Given the description of an element on the screen output the (x, y) to click on. 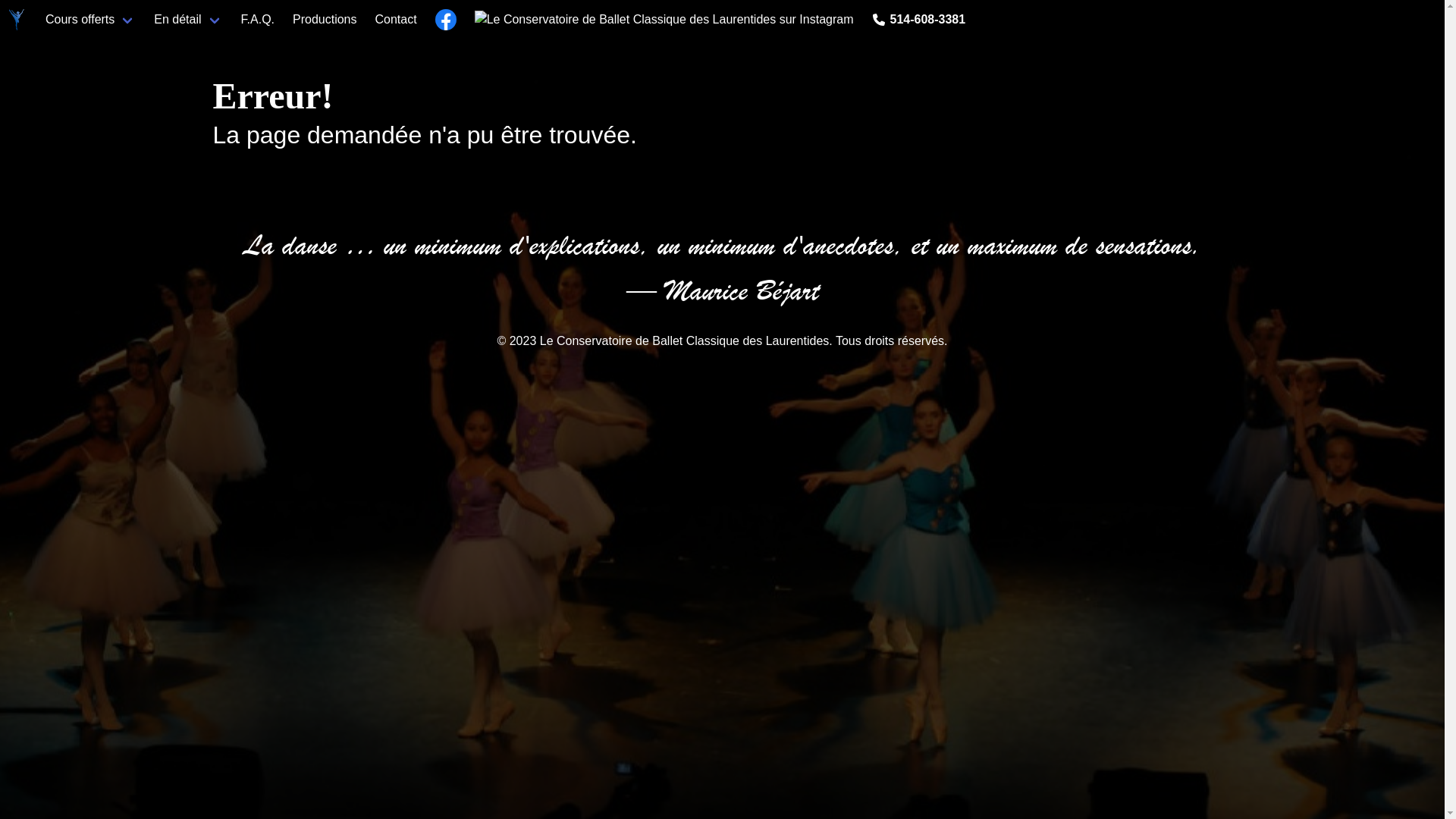
514-608-3381 Element type: text (927, 19)
Cours offerts Element type: text (90, 19)
Productions Element type: text (324, 19)
Contact Element type: text (396, 19)
F.A.Q. Element type: text (257, 19)
